Given the description of an element on the screen output the (x, y) to click on. 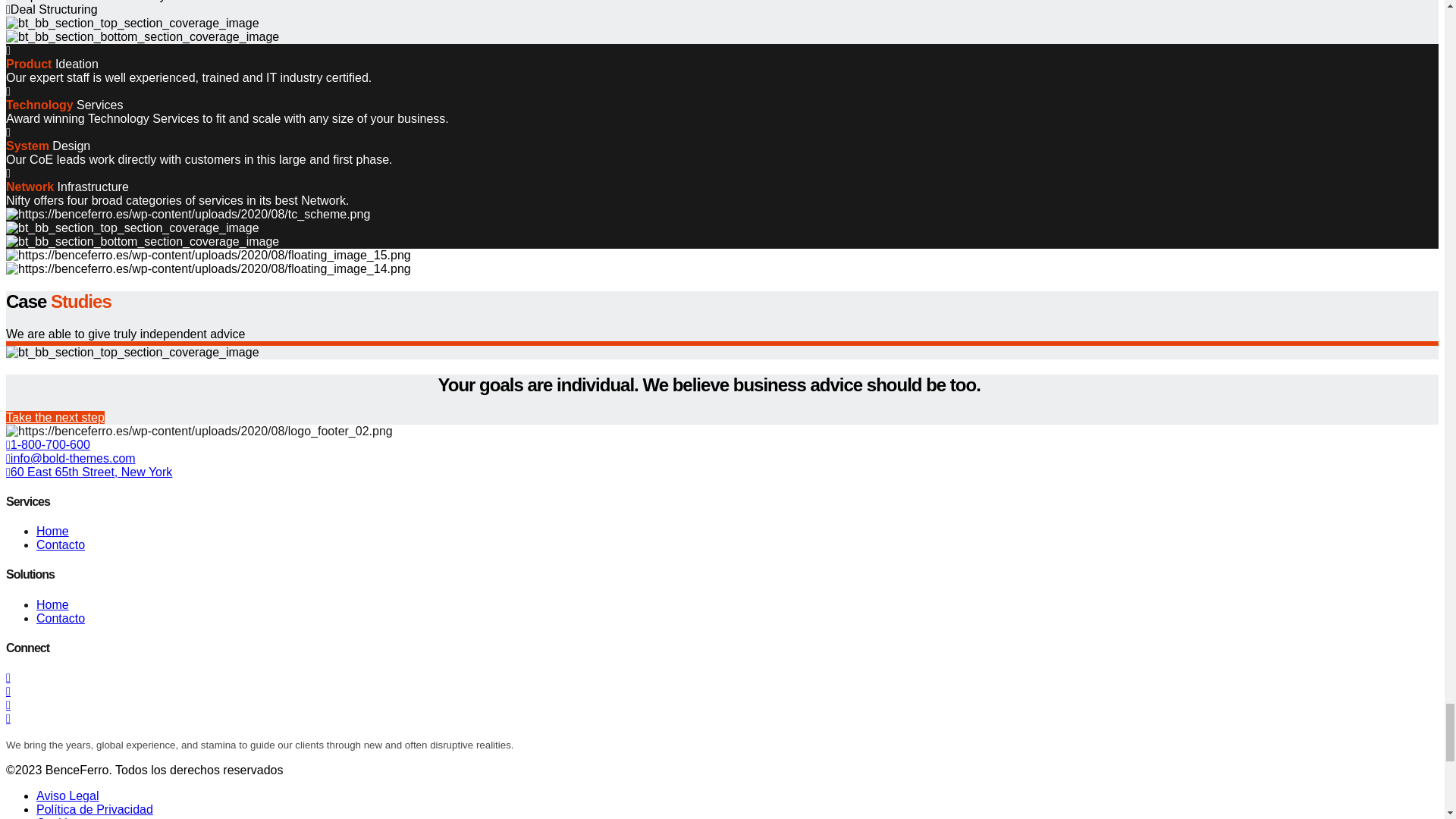
60 East 65th Street, New York (88, 472)
Home (52, 604)
Contacto (60, 617)
1-800-700-600 (47, 444)
Home (52, 530)
Contacto (60, 544)
Take the next step (54, 417)
